Given the description of an element on the screen output the (x, y) to click on. 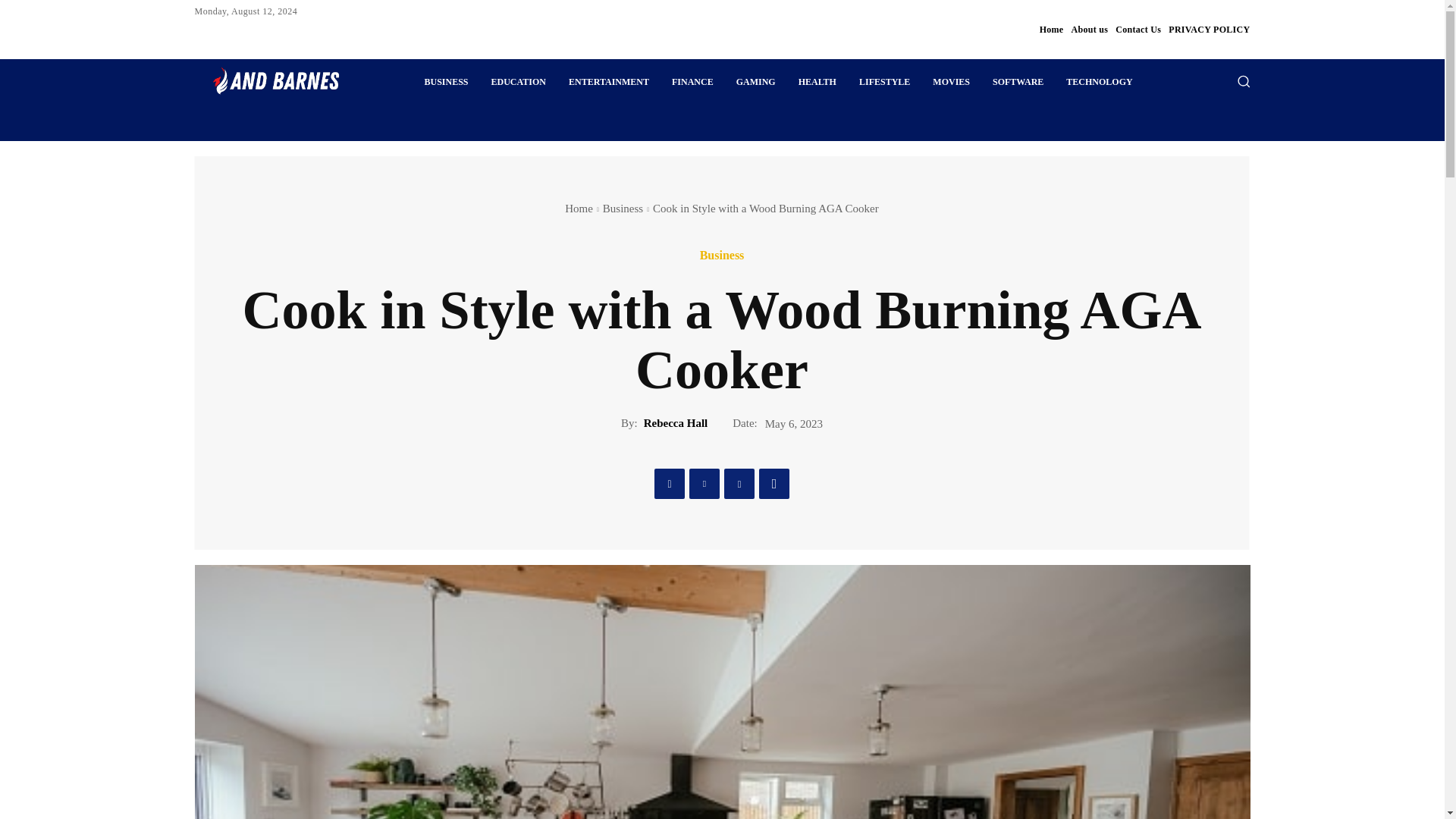
Home (1051, 29)
Pinterest (738, 483)
TECHNOLOGY (1098, 81)
PRIVACY POLICY (1209, 29)
LIFESTYLE (884, 81)
Facebook (668, 483)
EDUCATION (518, 81)
FINANCE (693, 81)
SOFTWARE (1017, 81)
Contact Us (1137, 29)
